Given the description of an element on the screen output the (x, y) to click on. 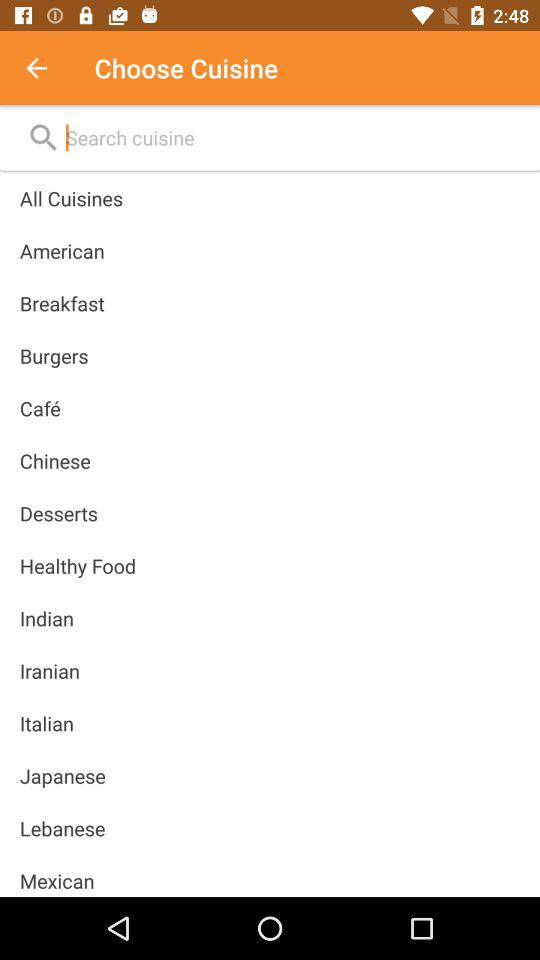
open lebanese item (62, 828)
